Given the description of an element on the screen output the (x, y) to click on. 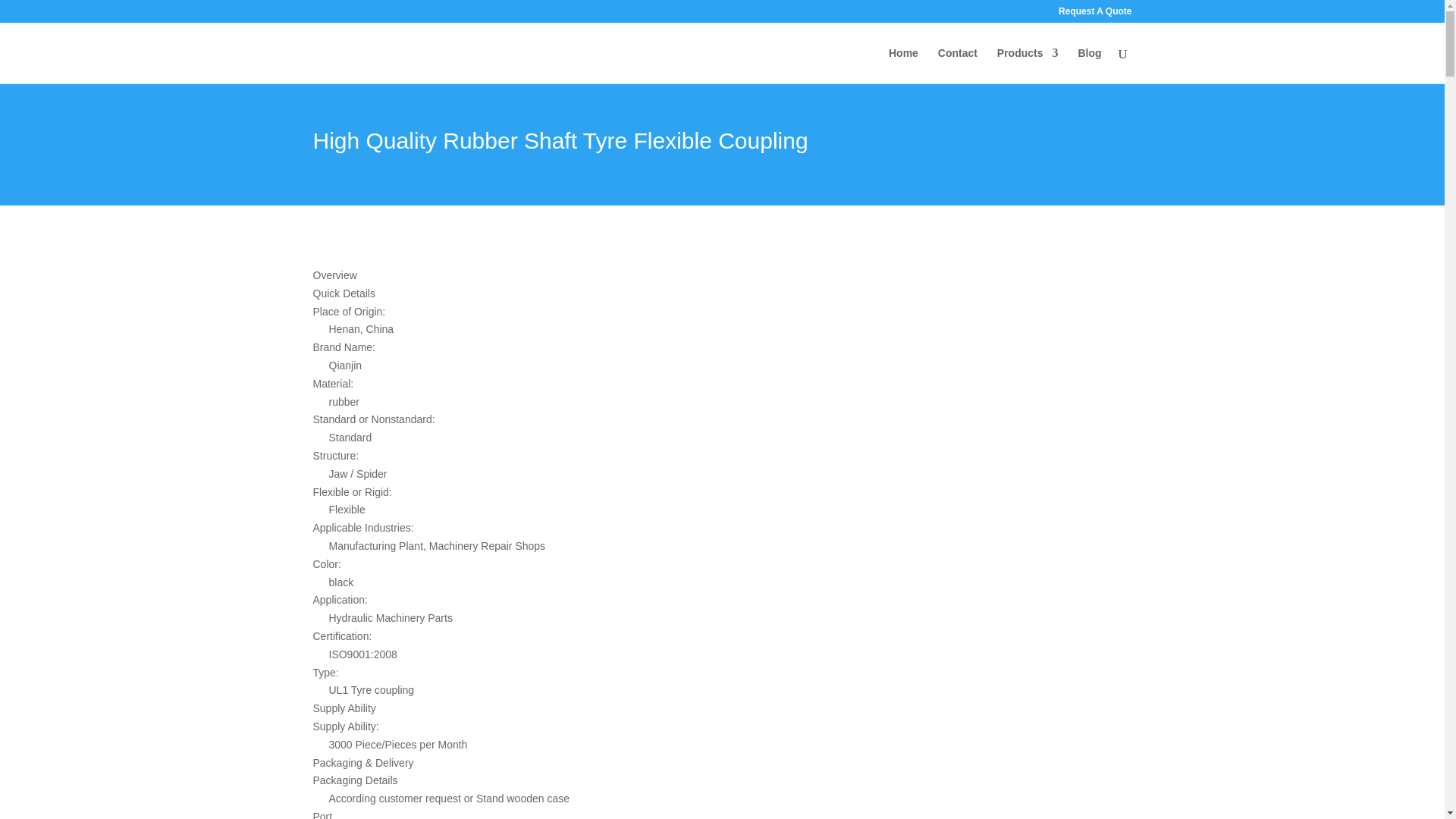
Packaging Details (578, 781)
Products (1027, 65)
Contact (956, 65)
Port (578, 813)
Request A Quote (1094, 14)
According customer request or Stand wooden case (586, 799)
